Given the description of an element on the screen output the (x, y) to click on. 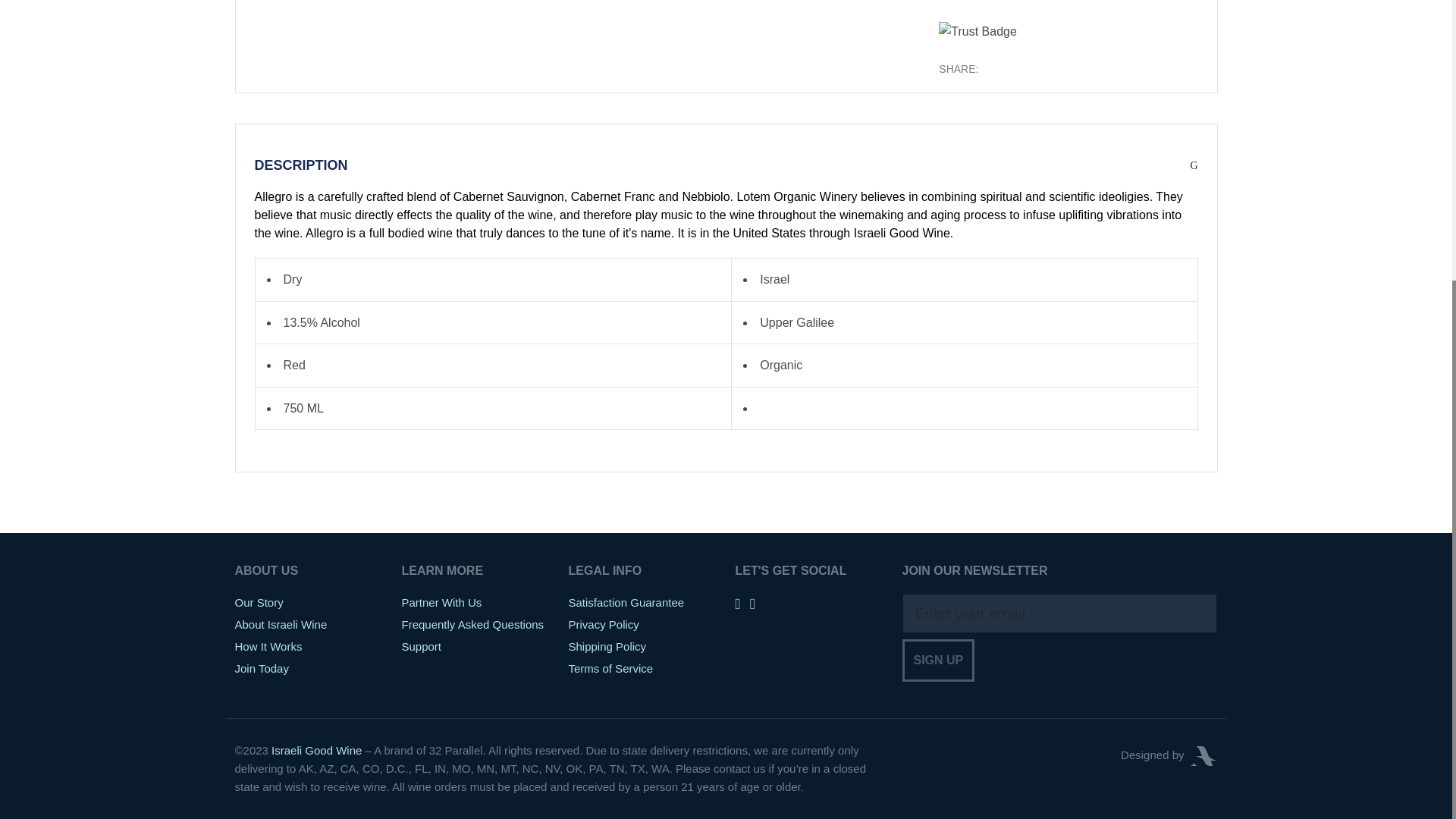
Satisfaction Guarantee (626, 602)
Support (421, 645)
Terms of Service (611, 667)
Join Today (261, 667)
Satisfaction Guarantee (626, 602)
Frequently Asked Questions (472, 624)
How It Works (268, 645)
Our Story (258, 602)
Partner With Us (441, 602)
Join Today (261, 667)
Frequently Asked Questions (472, 624)
Our Story (258, 602)
Israeli Good Wine Club (315, 749)
Privacy Policy (604, 624)
Israeli Good Wine (315, 749)
